Given the description of an element on the screen output the (x, y) to click on. 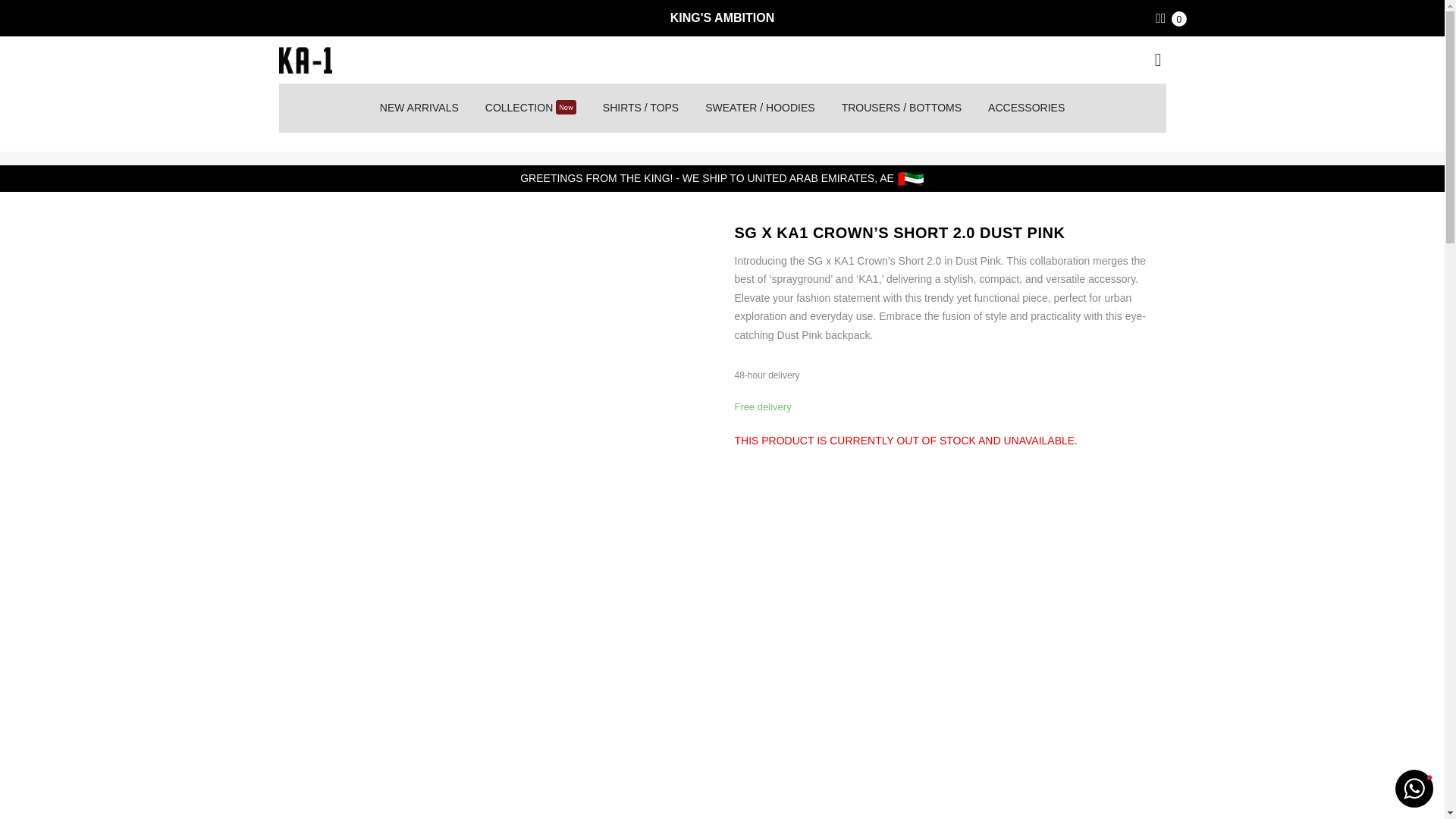
COLLECTIONNew (530, 107)
Home (24, 171)
Search (1158, 61)
New Arrivals (79, 171)
NEW ARRIVALS (419, 107)
ACCESSORIES (1026, 107)
